Given the description of an element on the screen output the (x, y) to click on. 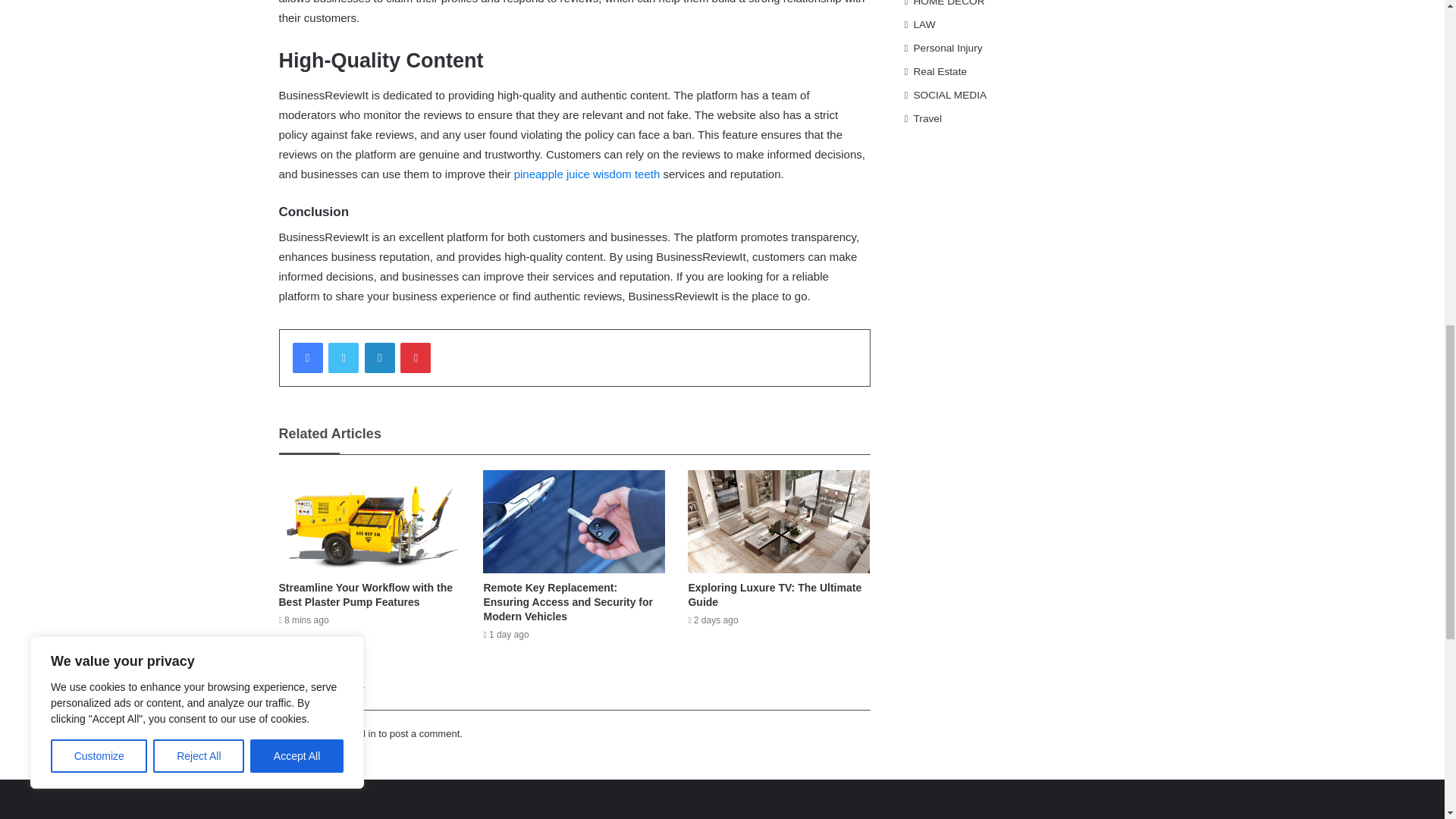
Pinterest (415, 358)
LinkedIn (379, 358)
Facebook (307, 358)
Twitter (343, 358)
